Given the description of an element on the screen output the (x, y) to click on. 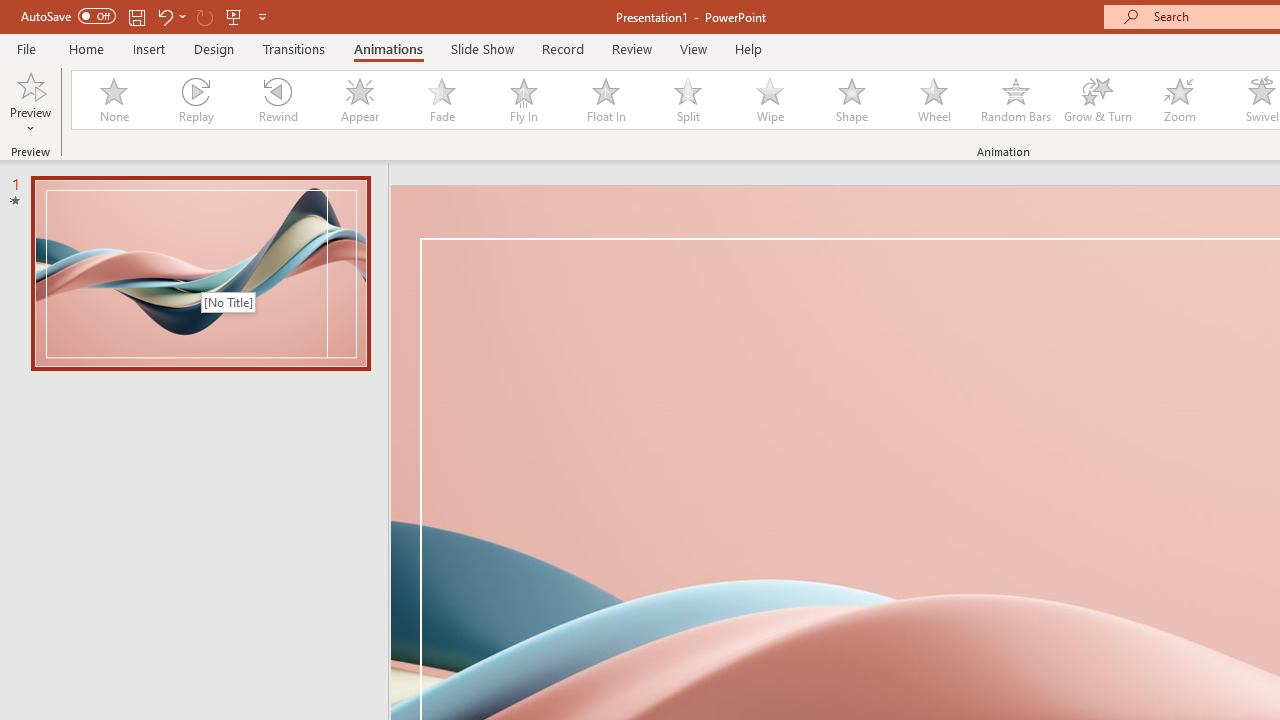
Wheel (934, 100)
Shape (852, 100)
Fade (441, 100)
Float In (605, 100)
Appear (359, 100)
Replay (195, 100)
